Given the description of an element on the screen output the (x, y) to click on. 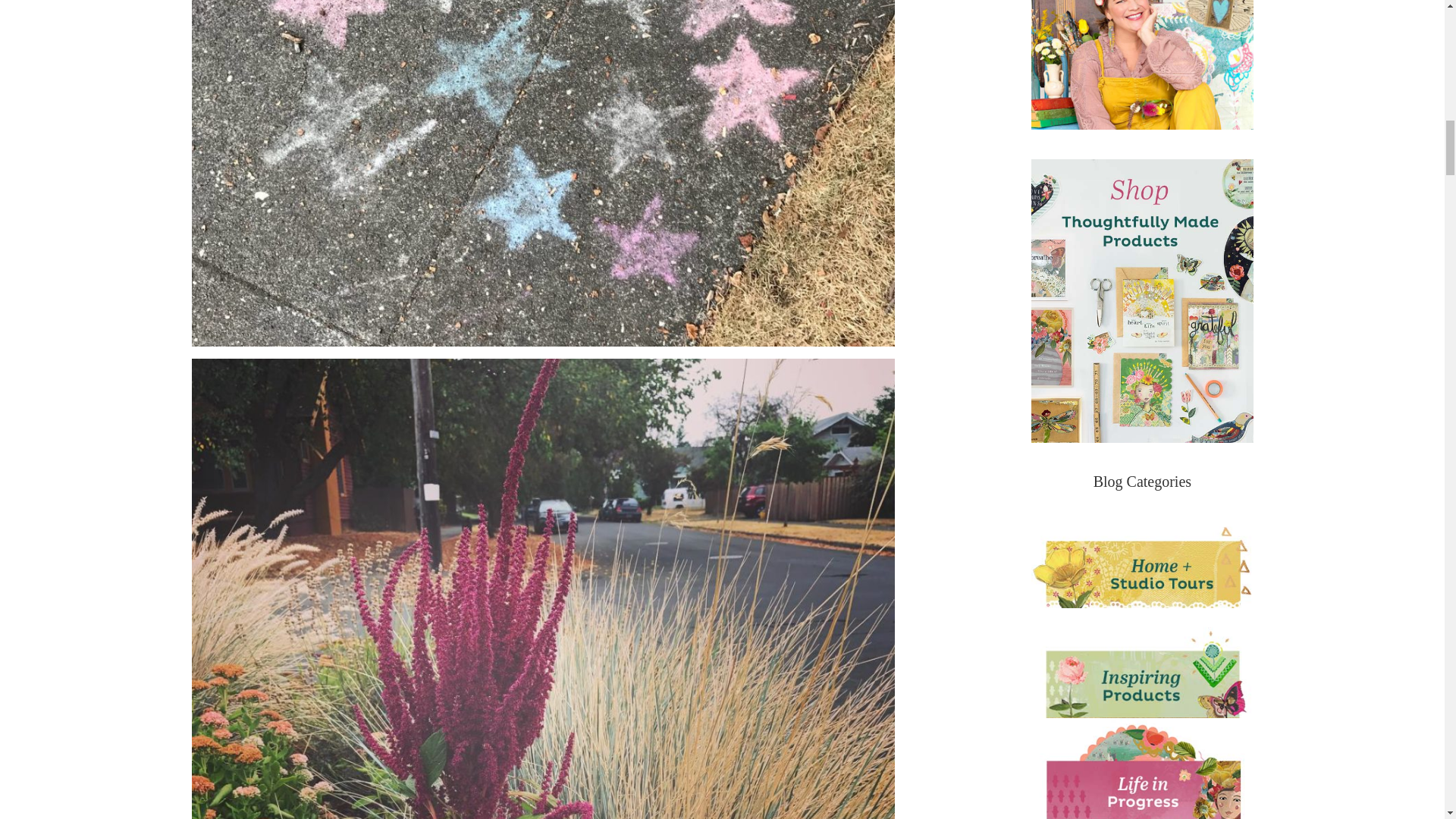
Inspiring Products (1141, 670)
Life in Progress (1141, 768)
Blog Sidebar (1141, 64)
Home and Studio Tours (1141, 560)
